Given the description of an element on the screen output the (x, y) to click on. 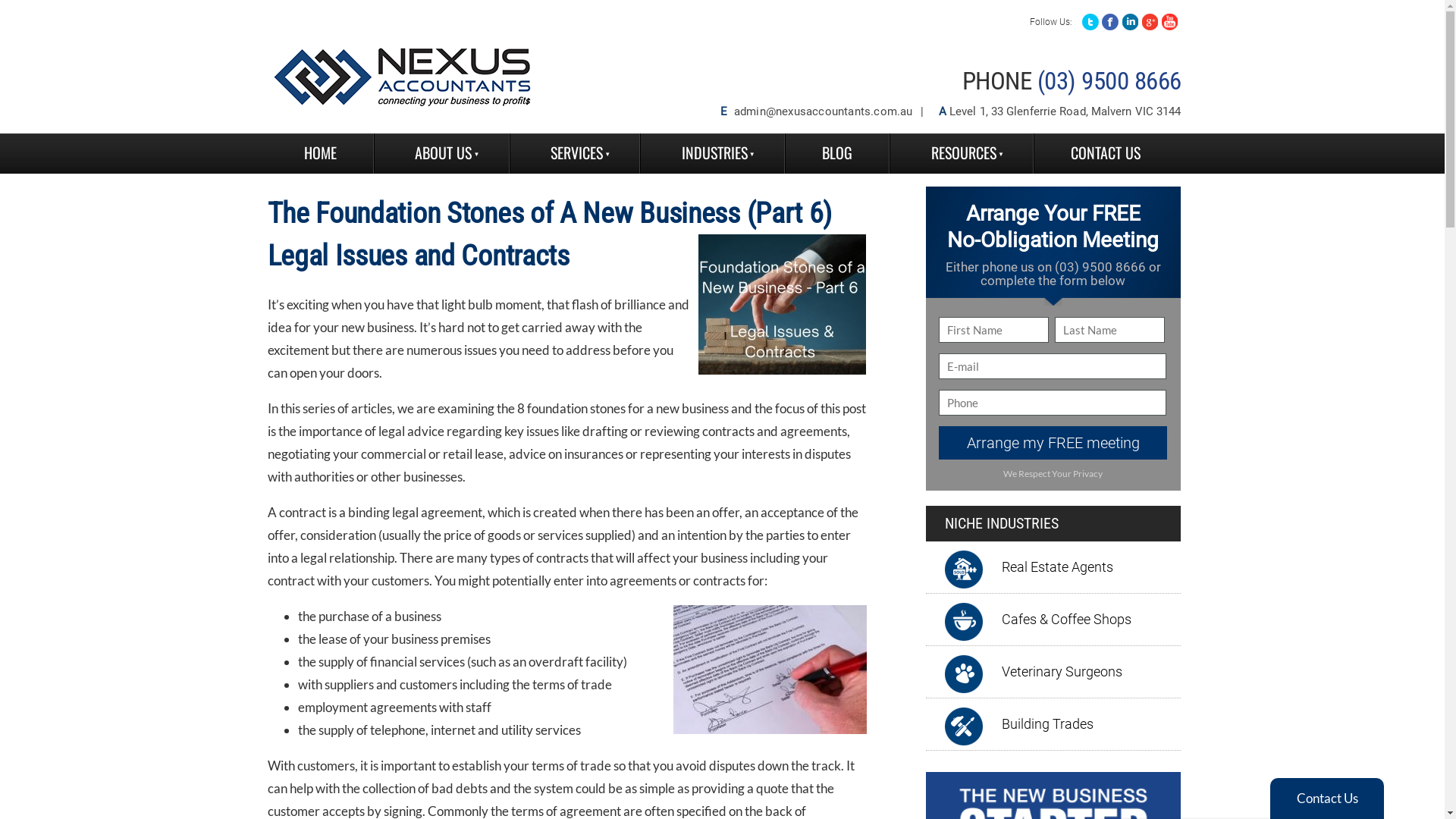
INDUSTRIES Element type: text (712, 153)
RESOURCES Element type: text (961, 153)
BLOG Element type: text (837, 153)
admin@nexusaccountants.com.au Element type: text (823, 111)
We Respect Your Privacy Element type: text (1052, 473)
Building Trades Element type: text (1050, 723)
SERVICES Element type: text (575, 153)
ABOUT US Element type: text (441, 153)
HOME Element type: text (319, 153)
Veterinary Surgeons Element type: text (1065, 671)
Arrange my FREE meeting Element type: text (1052, 442)
Cafes & Coffee Shops Element type: text (1069, 619)
CONTACT US Element type: text (1105, 153)
Real Estate Agents Element type: text (1060, 567)
